Given the description of an element on the screen output the (x, y) to click on. 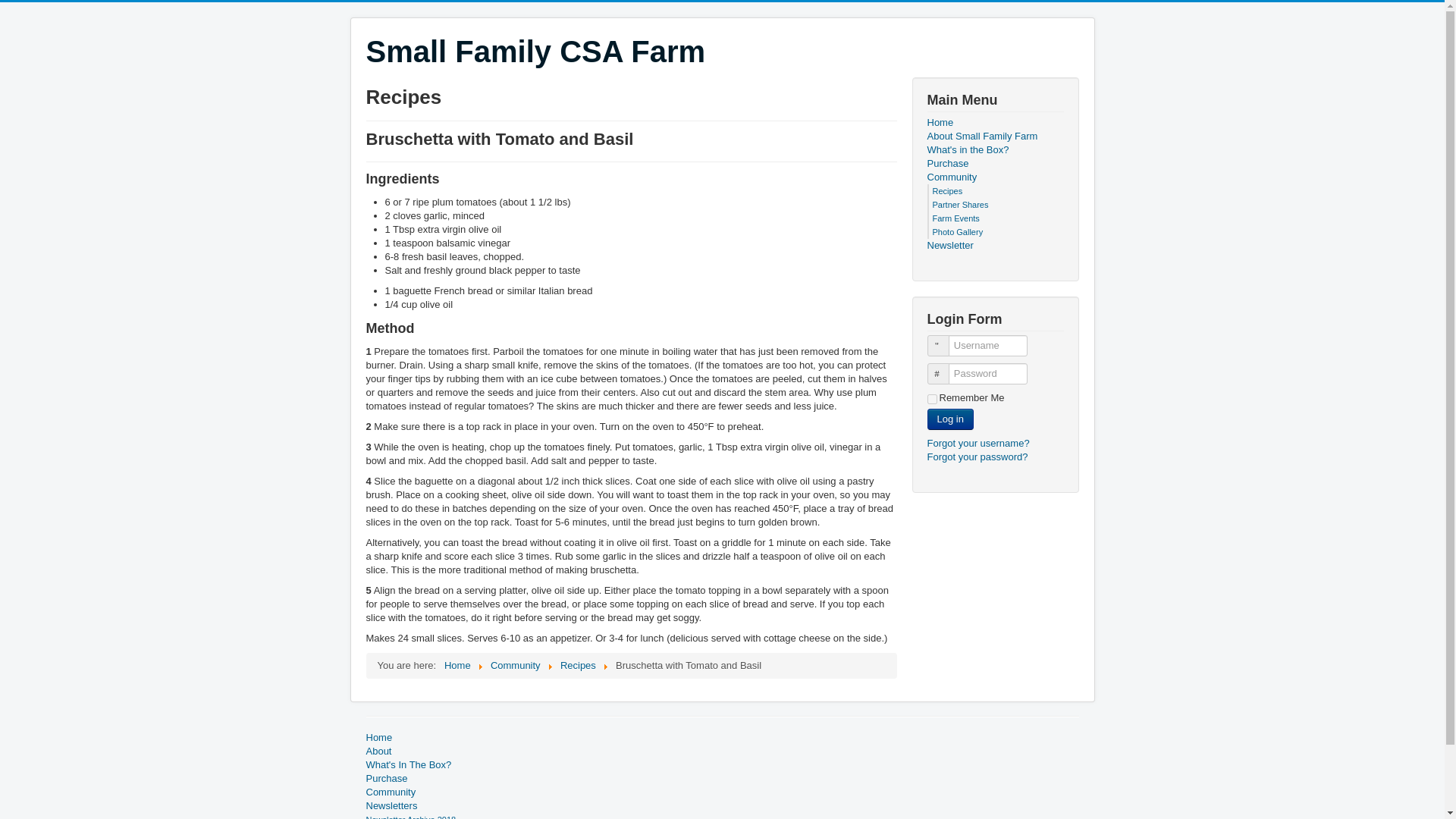
Small Family CSA Farm (534, 51)
Home (457, 665)
Partner Shares (960, 204)
About (721, 751)
What's in the Box? (994, 150)
Photo Gallery (958, 231)
Log in (949, 418)
Small Family CSA Farm (534, 51)
Community (994, 177)
Community (721, 792)
